Given the description of an element on the screen output the (x, y) to click on. 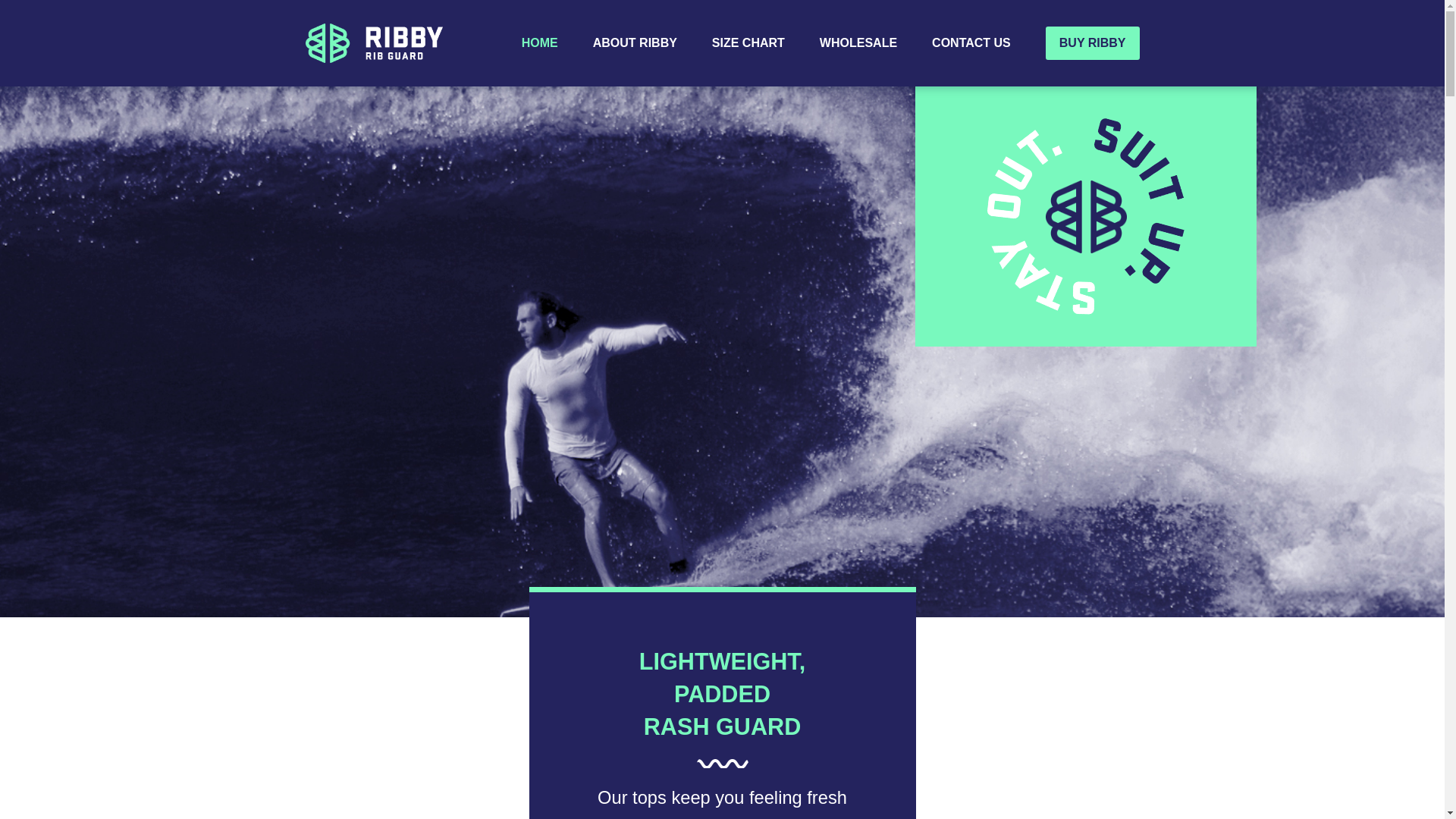
ABOUT RIBBY (634, 42)
SIZE CHART (747, 42)
BUY RIBBY (1092, 42)
WHOLESALE (857, 42)
CONTACT US (970, 42)
HOME (539, 42)
